Given the description of an element on the screen output the (x, y) to click on. 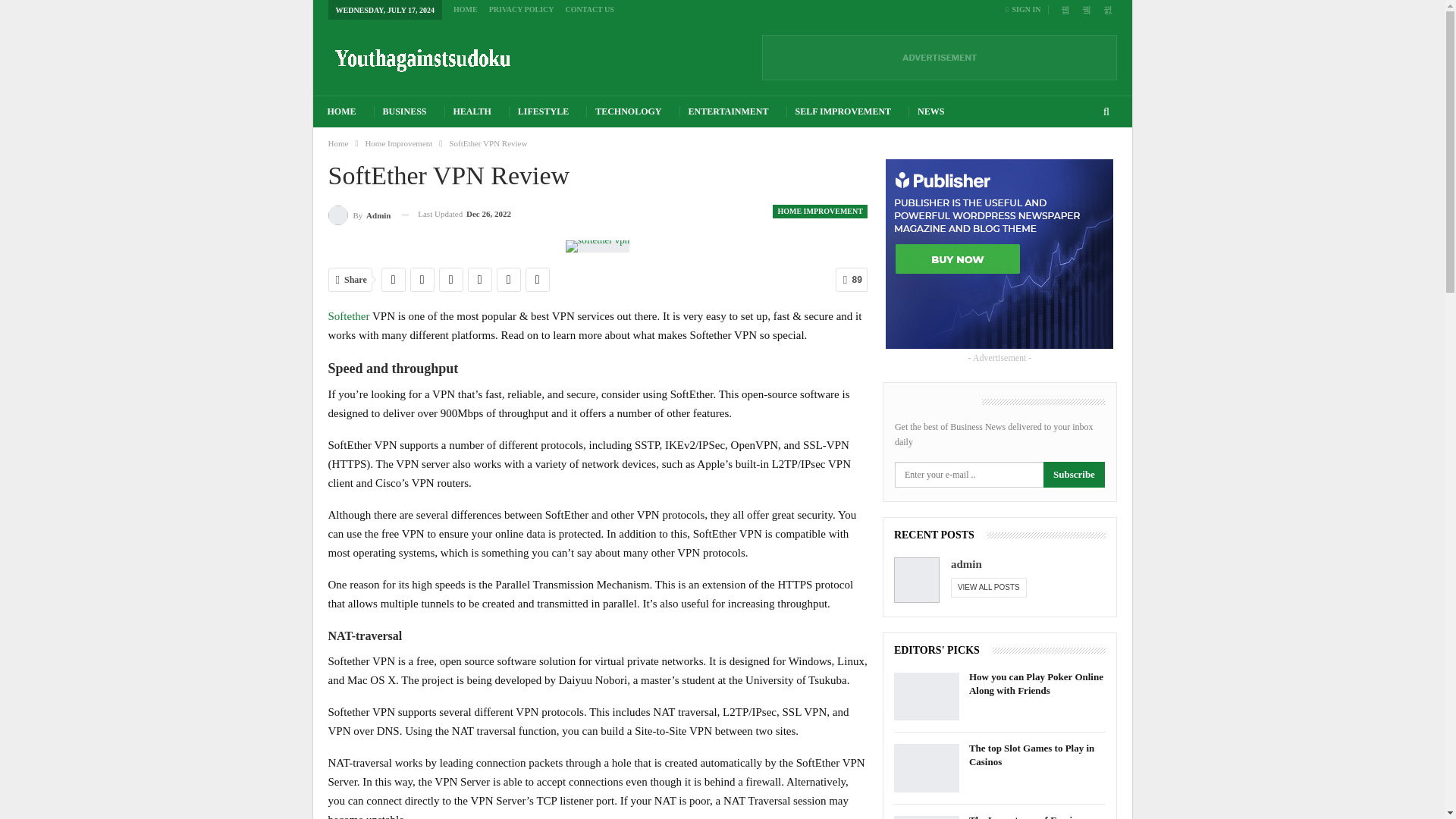
BUSINESS (404, 111)
HOME (464, 8)
PRIVACY POLICY (521, 8)
Browse Author Articles (358, 213)
HOME (341, 111)
SIGN IN (1026, 9)
HEALTH (471, 111)
How you can Play Poker Online Along with Friends (926, 696)
ENTERTAINMENT (727, 111)
TECHNOLOGY (628, 111)
The top Slot Games to Play in Casinos (926, 767)
CONTACT US (590, 8)
LIFESTYLE (543, 111)
